Given the description of an element on the screen output the (x, y) to click on. 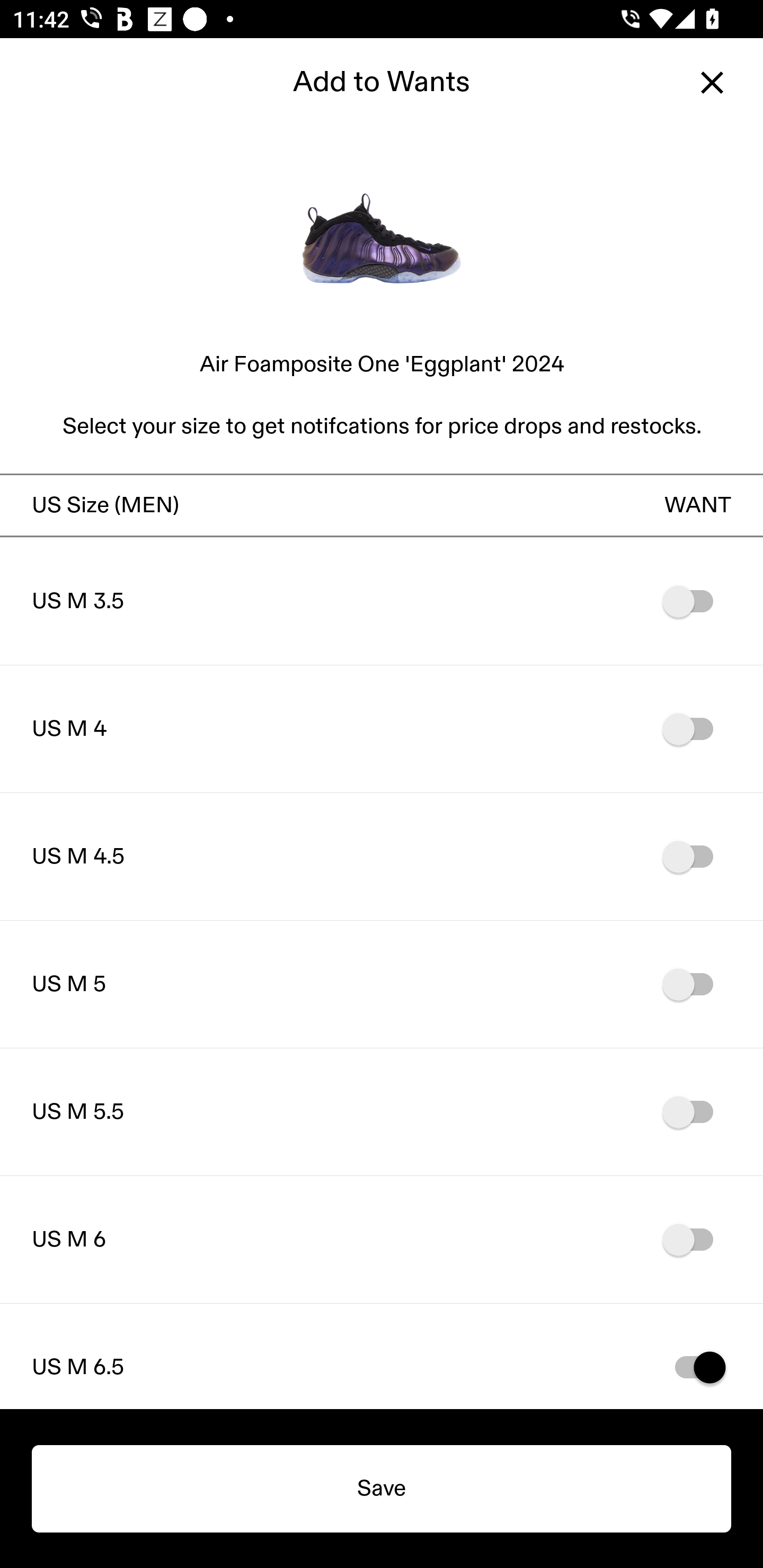
Save (381, 1488)
